Given the description of an element on the screen output the (x, y) to click on. 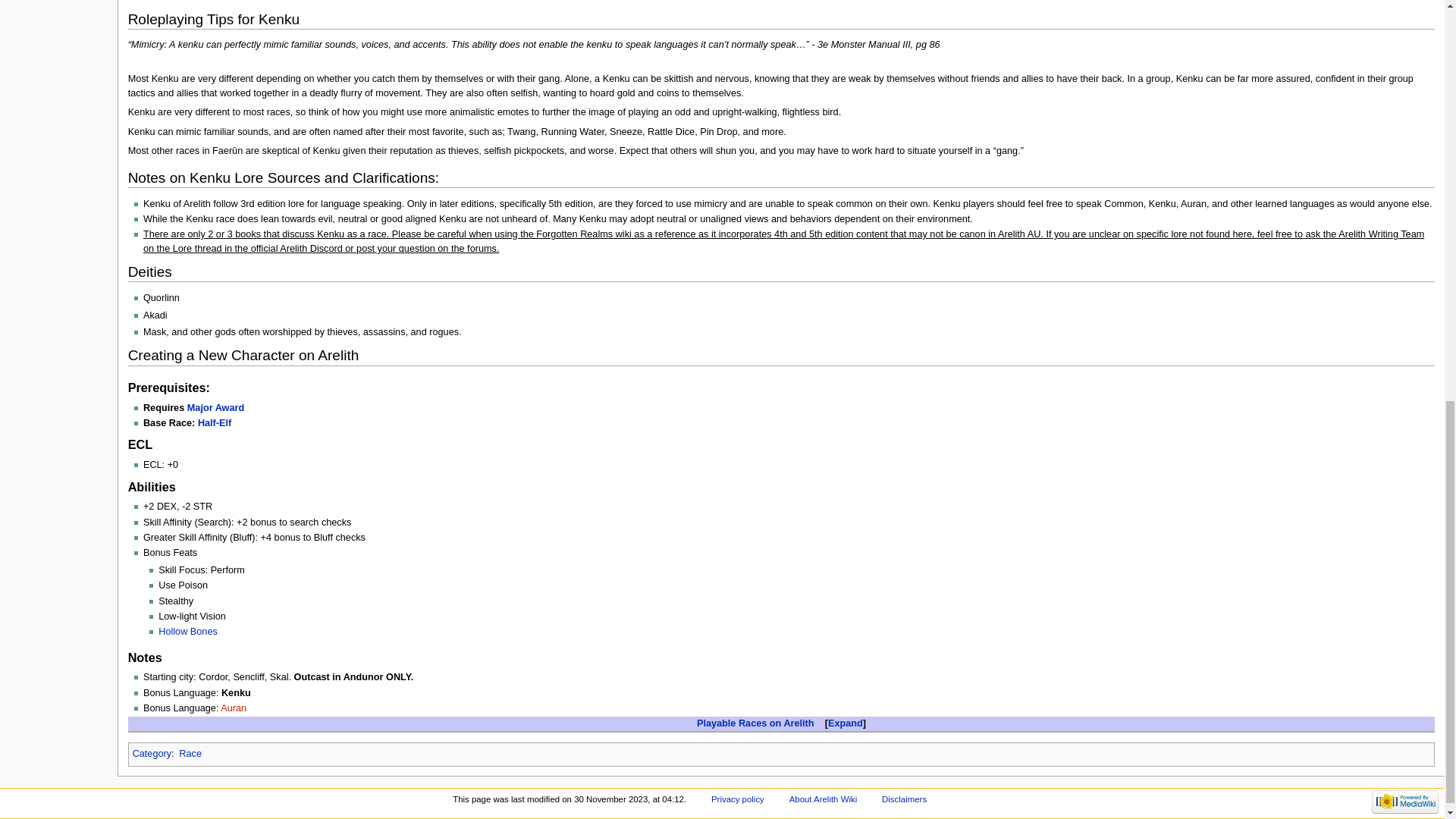
Epic Sacrifice (215, 407)
Half-Elf (214, 422)
Half-Elf (214, 422)
Auran (233, 707)
Template:Race Navbox (755, 723)
Playable Races on Arelith (755, 723)
Hollow Bones (187, 631)
Major Award (215, 407)
Hollow Bones (187, 631)
Expand (845, 723)
